Given the description of an element on the screen output the (x, y) to click on. 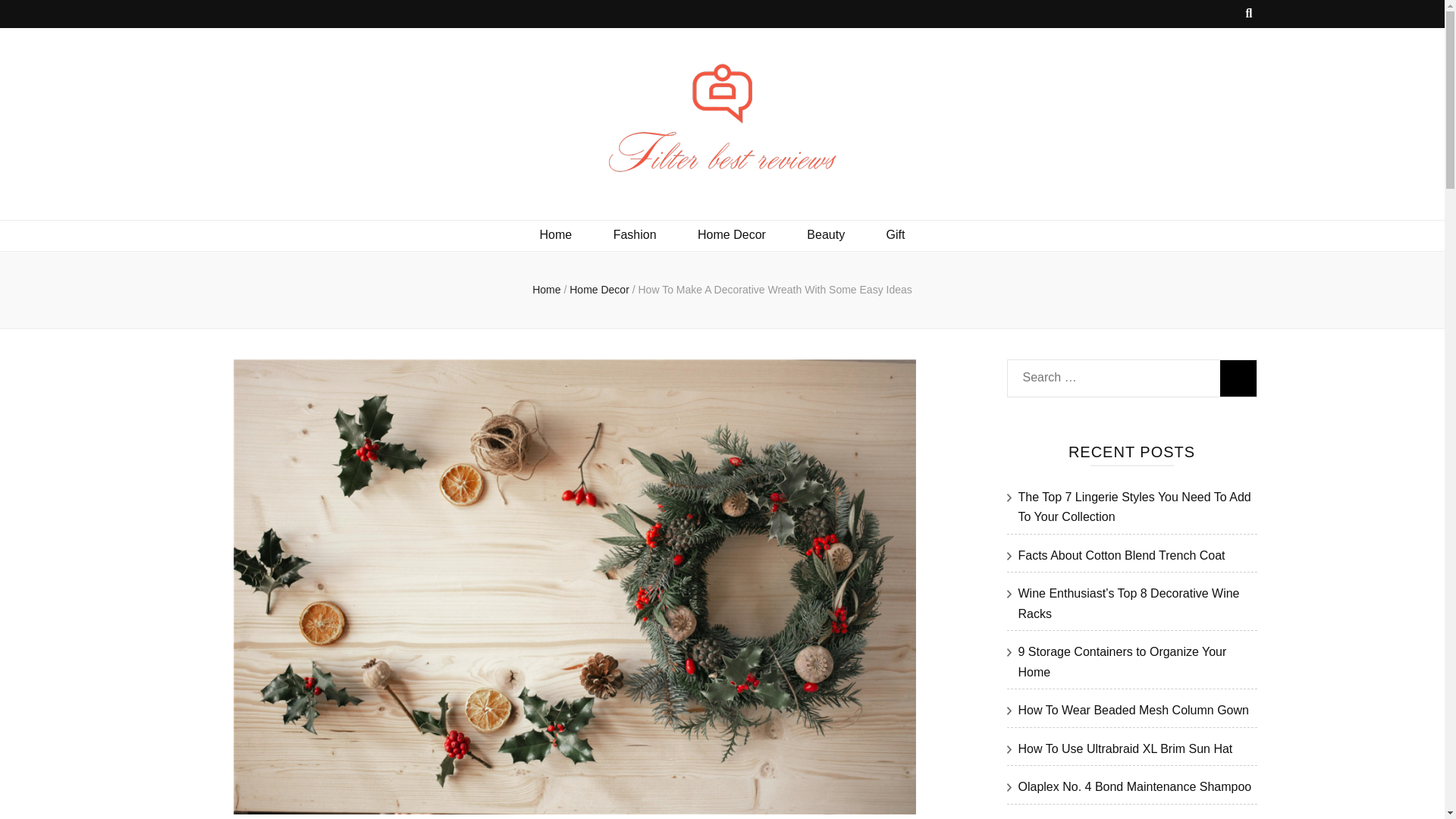
Facts About Cotton Blend Trench Coat (1120, 554)
Beauty (825, 235)
Search (1237, 378)
9 Storage Containers to Organize Your Home (1121, 661)
Home Decor (731, 235)
Home Decor (600, 289)
Fashion (634, 235)
How To Make A Decorative Wreath With Some Easy Ideas (774, 289)
Home (546, 289)
Home (556, 235)
